Given the description of an element on the screen output the (x, y) to click on. 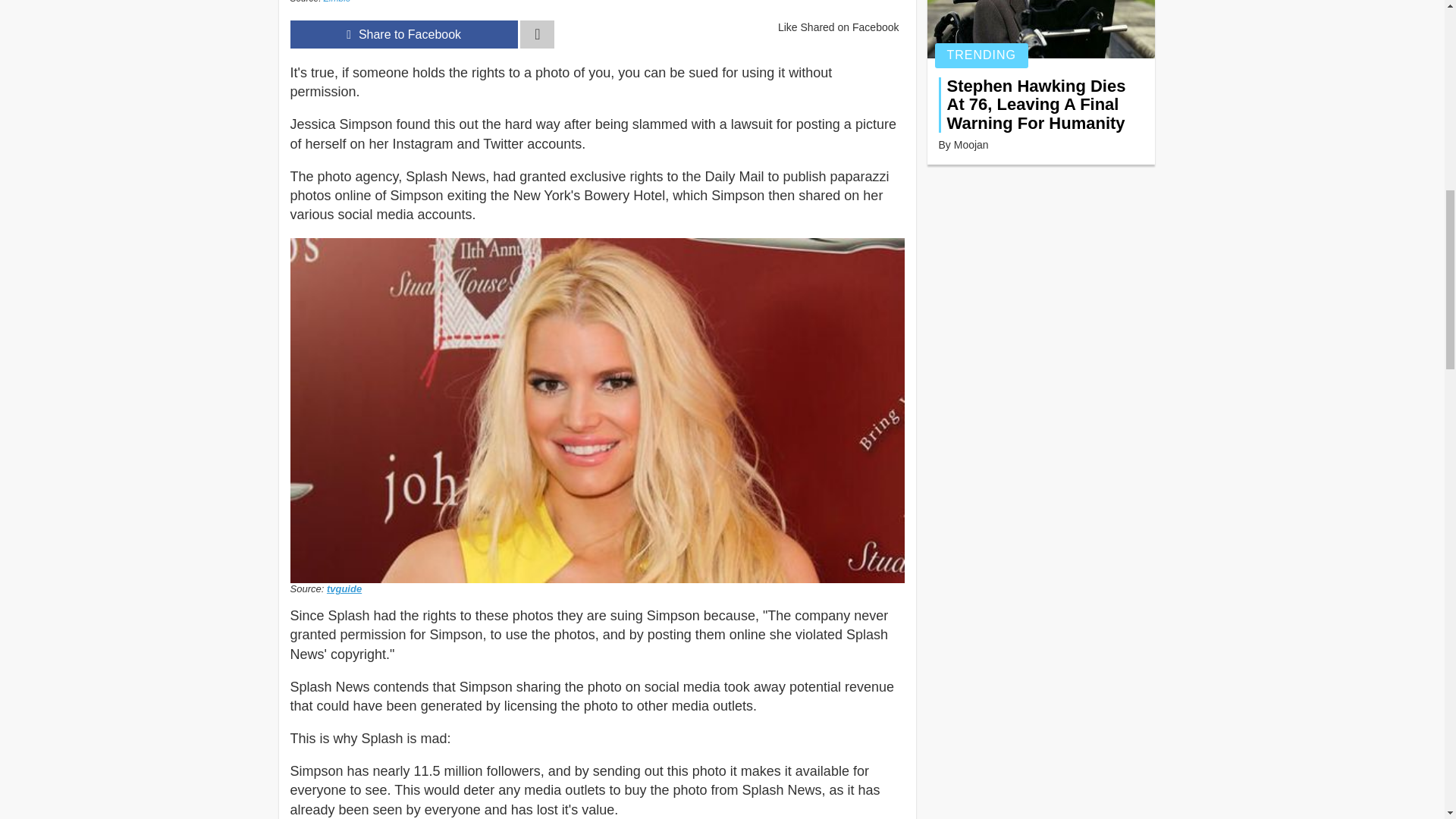
tvguide (343, 588)
Moojan's Profile (970, 144)
Toggle navigation (536, 34)
facebook (402, 34)
Zimbio (336, 2)
